Given the description of an element on the screen output the (x, y) to click on. 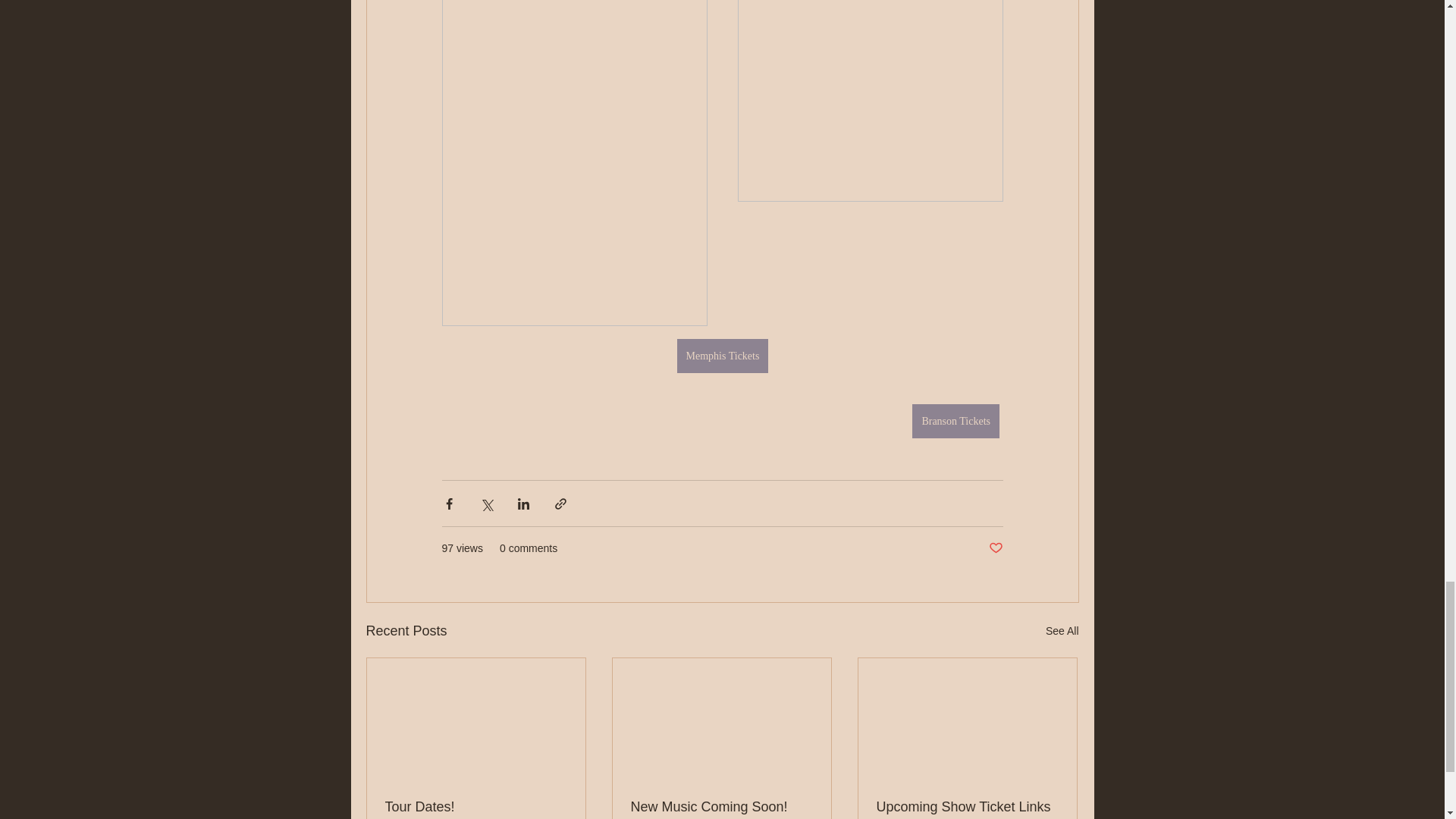
New Music Coming Soon! (721, 806)
Upcoming Show Ticket Links (967, 806)
Tour Dates! (476, 806)
Branson Tickets (955, 421)
Memphis Tickets (722, 356)
Post not marked as liked (995, 548)
See All (1061, 630)
